Given the description of an element on the screen output the (x, y) to click on. 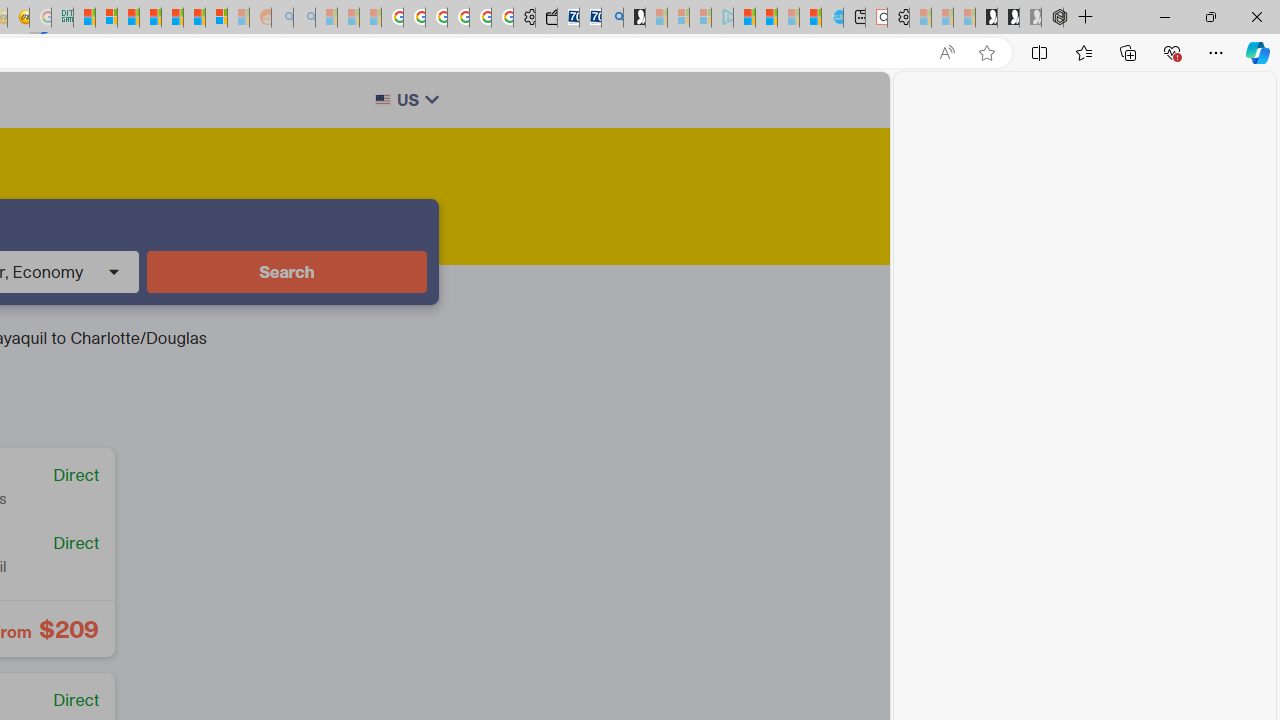
Read aloud this page (Ctrl+Shift+U) (946, 53)
Settings (898, 17)
Microsoft Start Gaming (634, 17)
Minimize (1164, 16)
Home | Sky Blue Bikes - Sky Blue Bikes (832, 17)
New Tab (1085, 17)
